Given the description of an element on the screen output the (x, y) to click on. 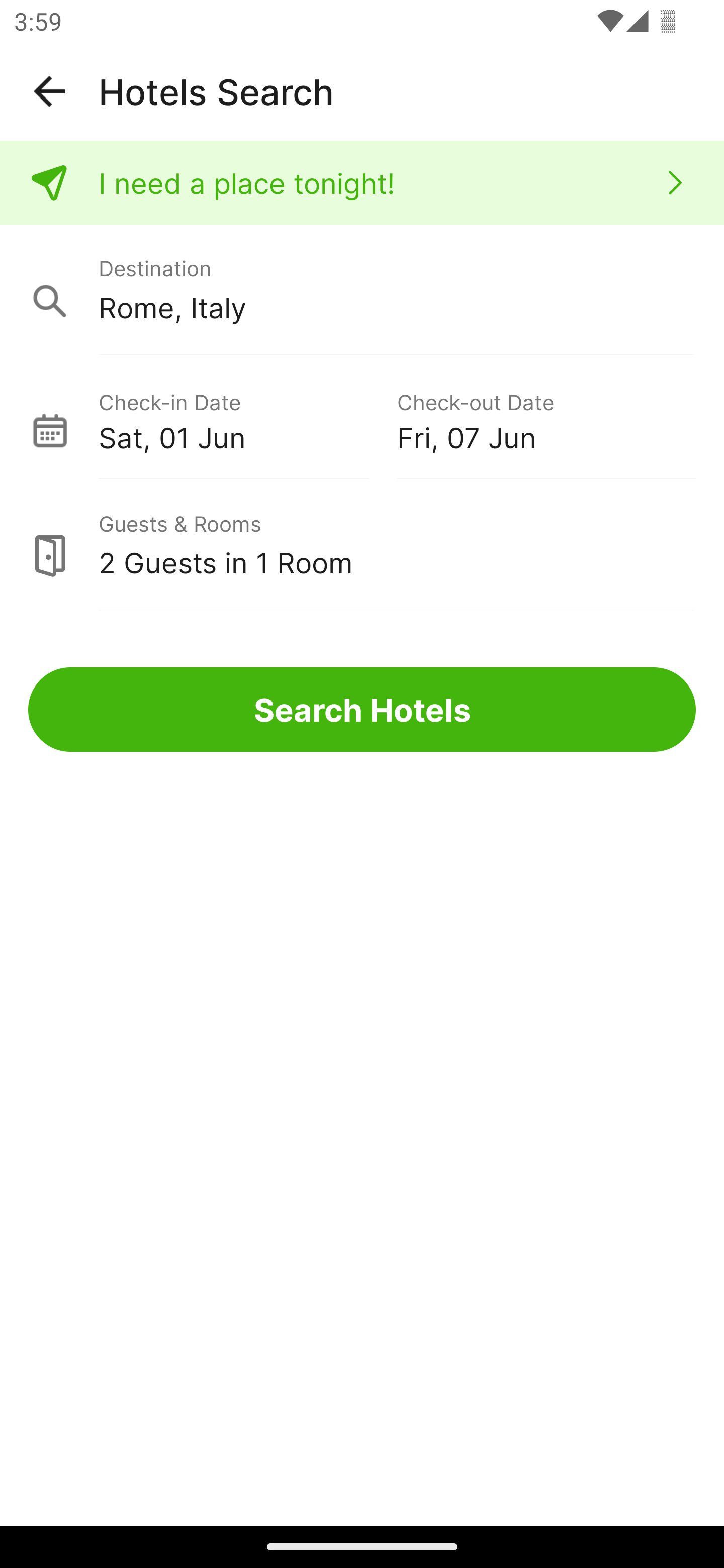
I need a place tonight! (362, 183)
Destination Rome, Italy (362, 290)
Check-in Date Sat, 01 Jun (247, 418)
Check-out Date Fri, 07 Jun (546, 418)
Guests & Rooms 2 Guests in 1 Room (362, 545)
Search Hotels (361, 709)
